Given the description of an element on the screen output the (x, y) to click on. 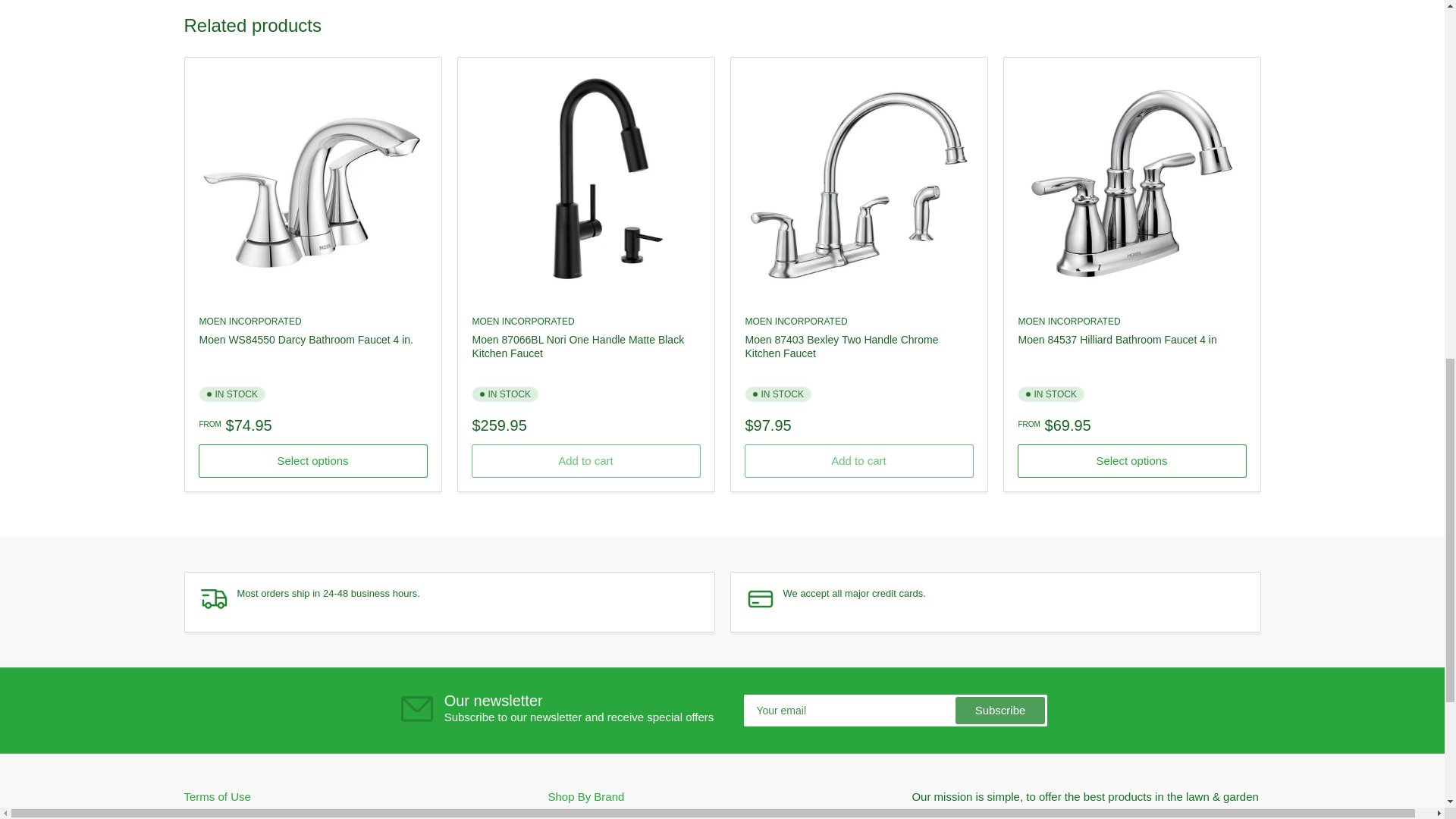
Moen Incorporated (1068, 321)
Moen Incorporated (795, 321)
Moen Incorporated (249, 321)
Shop By Brand (585, 796)
Moen Incorporated (522, 321)
Terms of Use (216, 796)
